Given the description of an element on the screen output the (x, y) to click on. 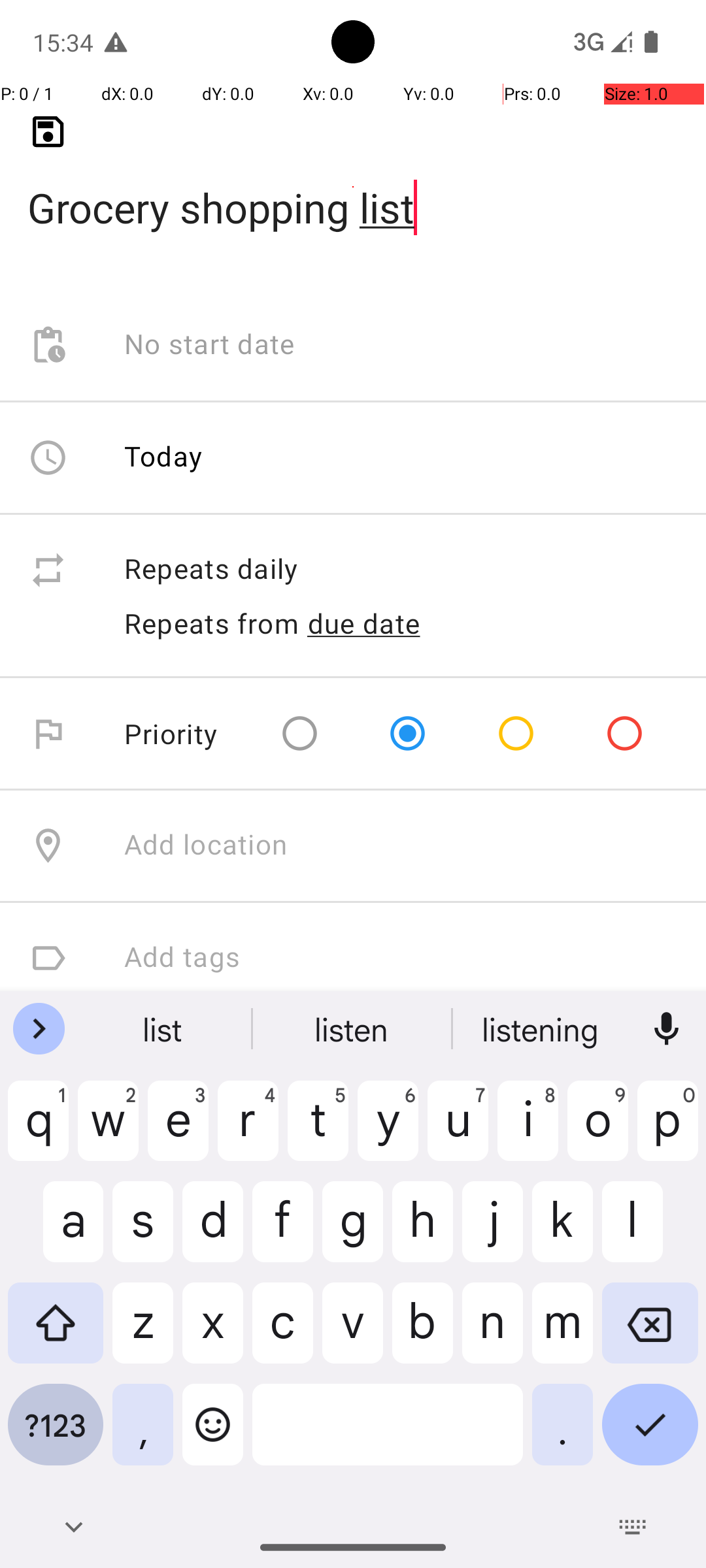
Grocery shopping list Element type: android.widget.EditText (353, 186)
No start date Element type: android.widget.TextView (209, 344)
Repeats daily Element type: android.widget.TextView (400, 569)
Repeats from Element type: android.widget.TextView (211, 622)
due date Element type: android.widget.TextView (363, 623)
lis Element type: android.widget.FrameLayout (163, 1028)
list Element type: android.widget.FrameLayout (352, 1028)
listen Element type: android.widget.FrameLayout (541, 1028)
